Given the description of an element on the screen output the (x, y) to click on. 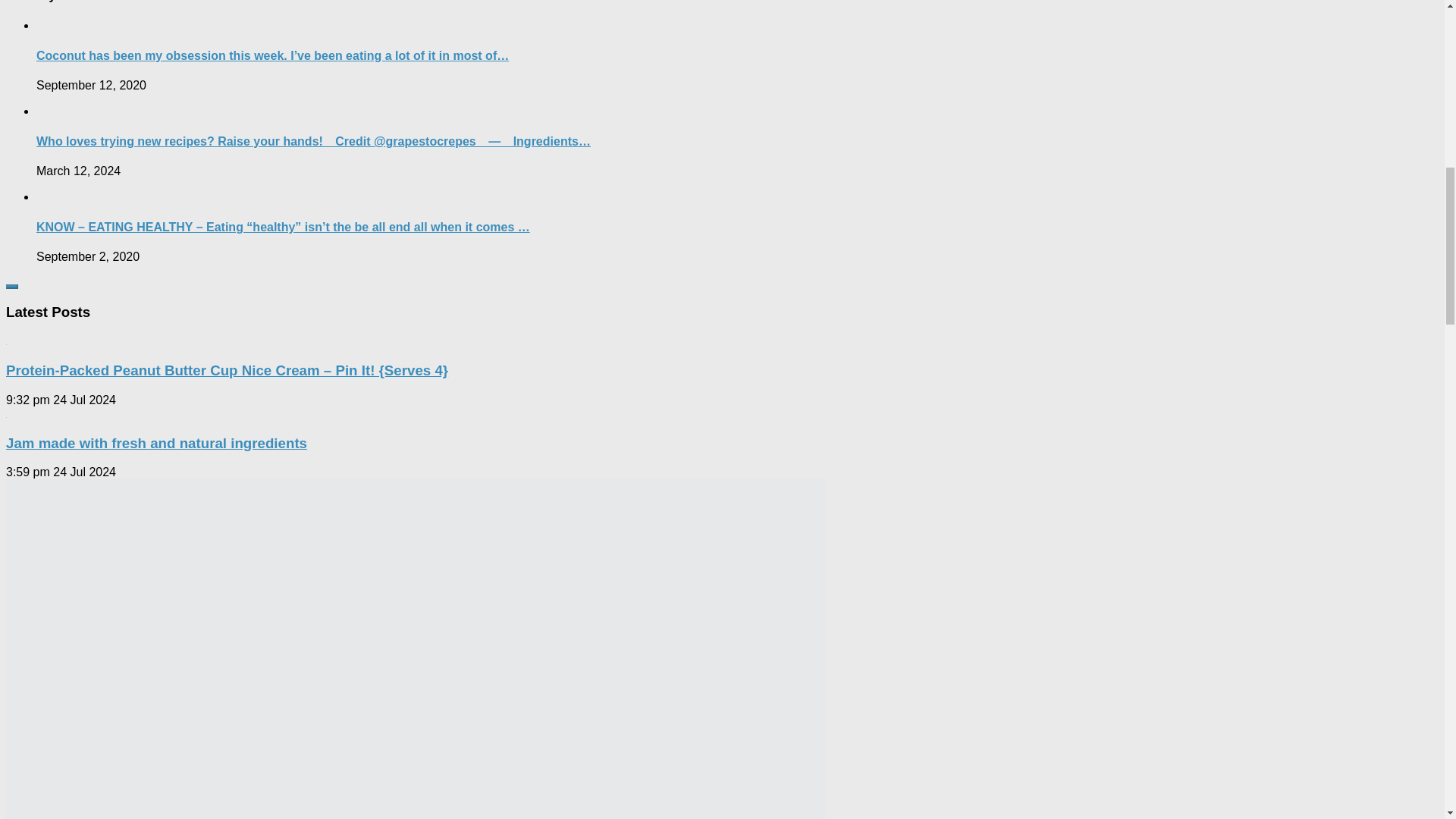
Expand Sidebar (11, 286)
